Given the description of an element on the screen output the (x, y) to click on. 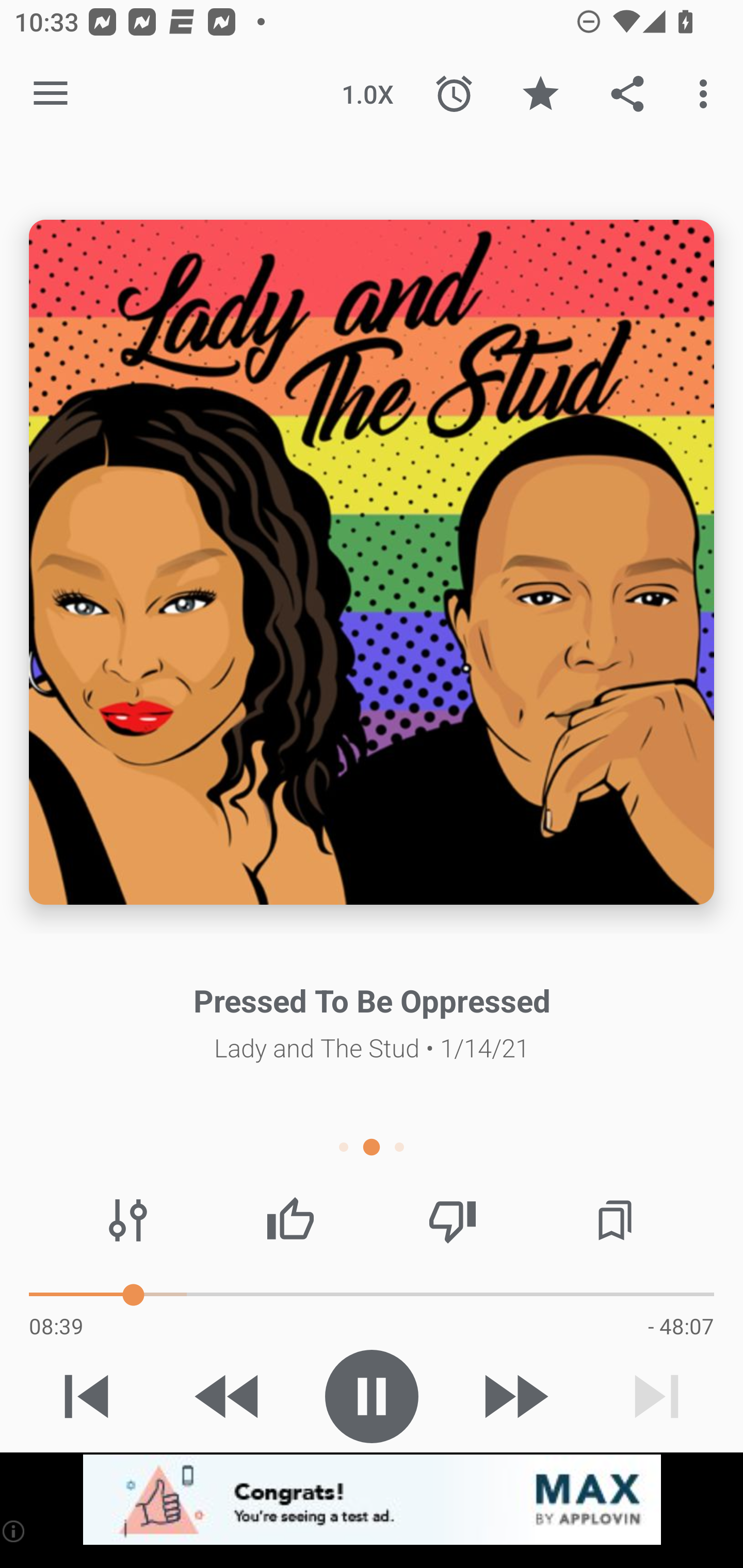
Open navigation sidebar (50, 93)
1.0X (366, 93)
Sleep Timer (453, 93)
UnFavorite (540, 93)
Share (626, 93)
More options (706, 93)
Episode description (371, 561)
Audio effects (127, 1220)
Thumbs up (290, 1220)
Thumbs down (452, 1220)
Chapters / Bookmarks (614, 1220)
- 48:07 (680, 1325)
Previous track (86, 1395)
Skip 15s backward (228, 1395)
Play / Pause (371, 1395)
Skip 30s forward (513, 1395)
Next track (656, 1395)
app-monetization (371, 1500)
(i) (14, 1531)
